Given the description of an element on the screen output the (x, y) to click on. 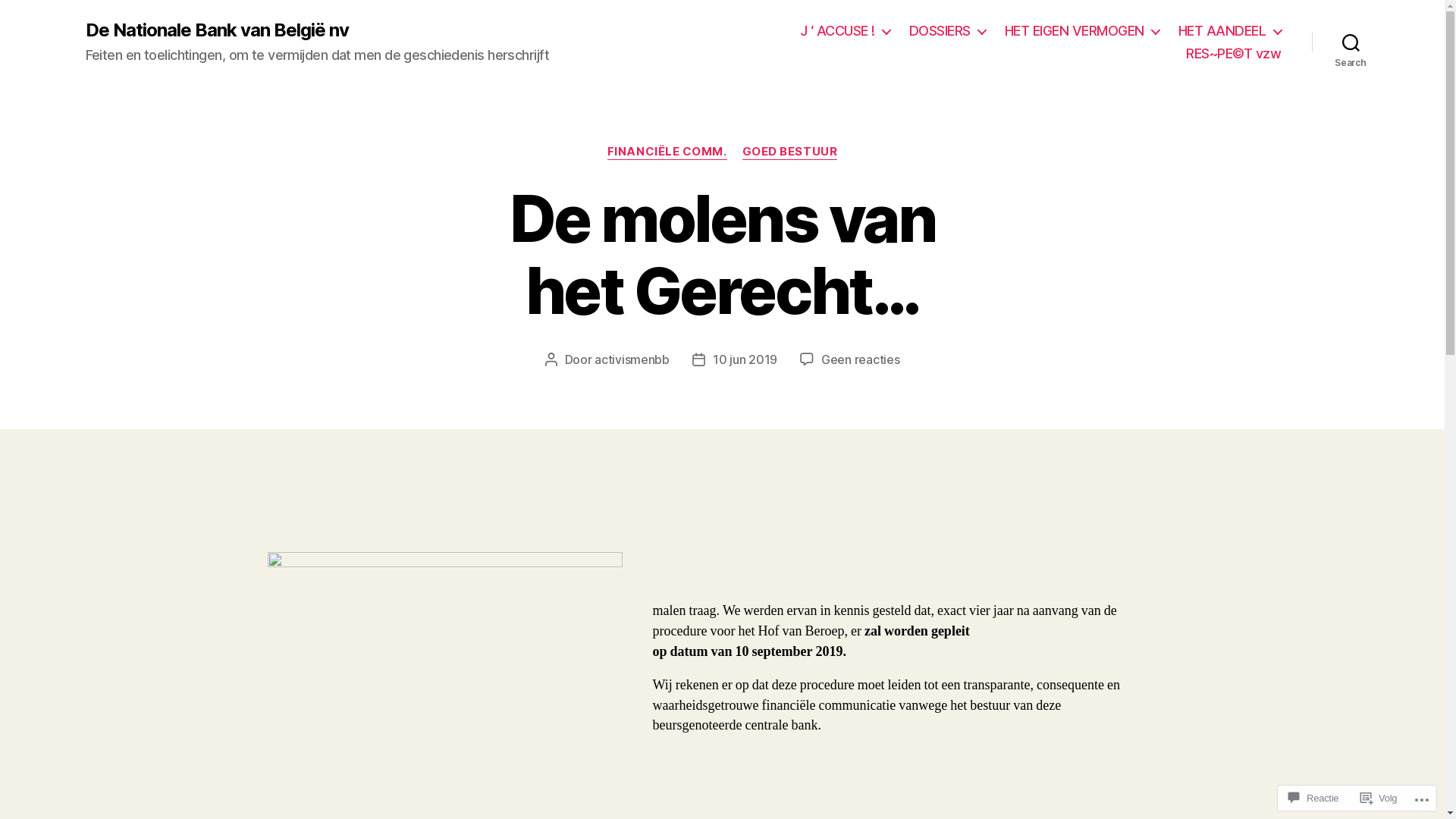
Volg Element type: text (1378, 797)
Geen reacties Element type: text (860, 359)
GOED BESTUUR Element type: text (789, 152)
HET AANDEEL Element type: text (1229, 30)
10 jun 2019 Element type: text (744, 359)
activismenbb Element type: text (631, 359)
HET EIGEN VERMOGEN Element type: text (1081, 30)
Search Element type: text (1350, 42)
Reactie Element type: text (1313, 797)
DOSSIERS Element type: text (947, 30)
